Given the description of an element on the screen output the (x, y) to click on. 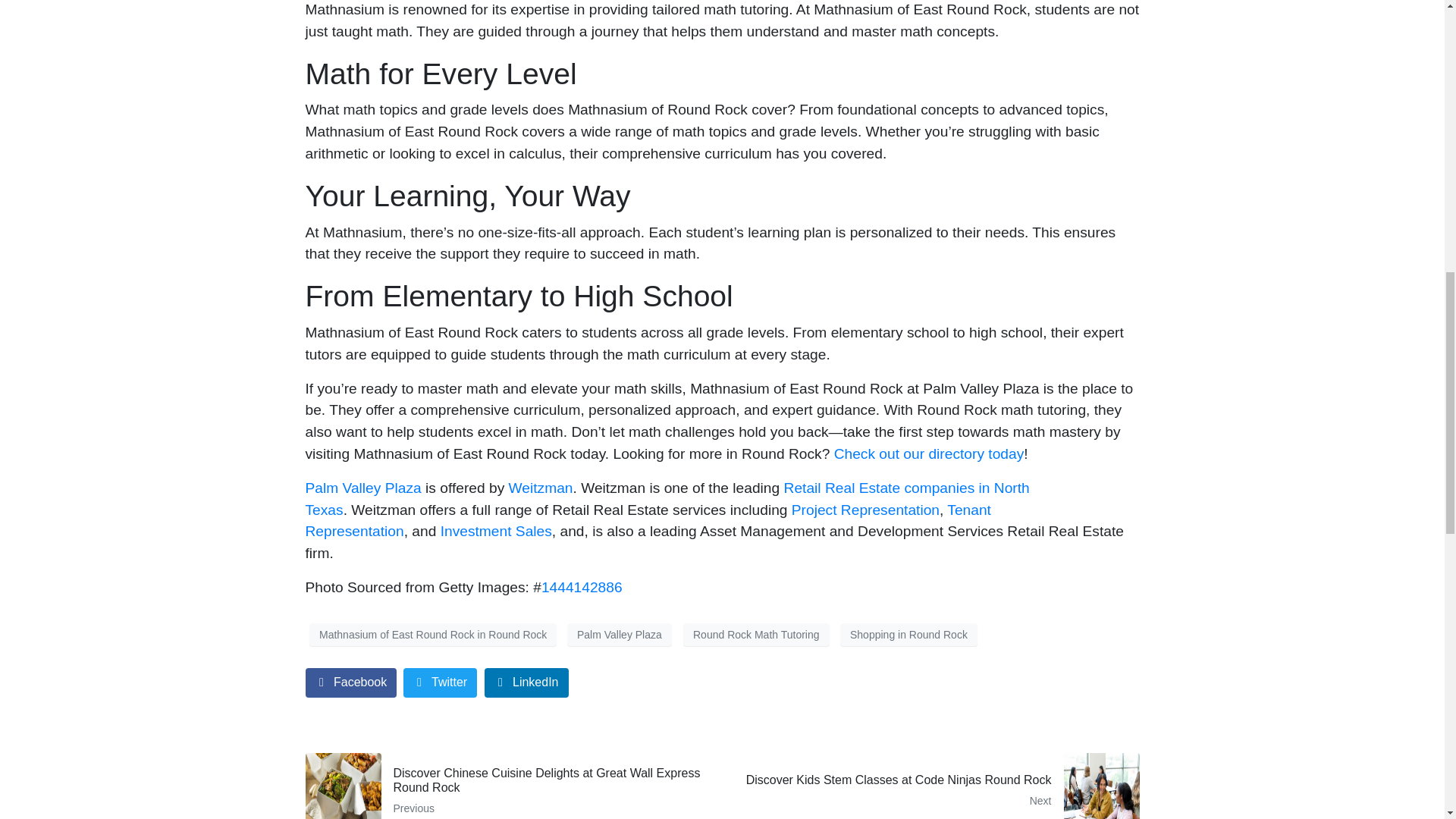
Discover Kids Stem Classes at Code Ninjas Round Rock 2 (936, 785)
Twitter (1100, 785)
Palm Valley Plaza (440, 682)
Round Rock Math Tutoring (362, 487)
Weitzman (755, 634)
LinkedIn (540, 487)
Facebook (526, 682)
Investment Sales (350, 682)
Mathnasium of East Round Rock in Round Rock (496, 530)
